Given the description of an element on the screen output the (x, y) to click on. 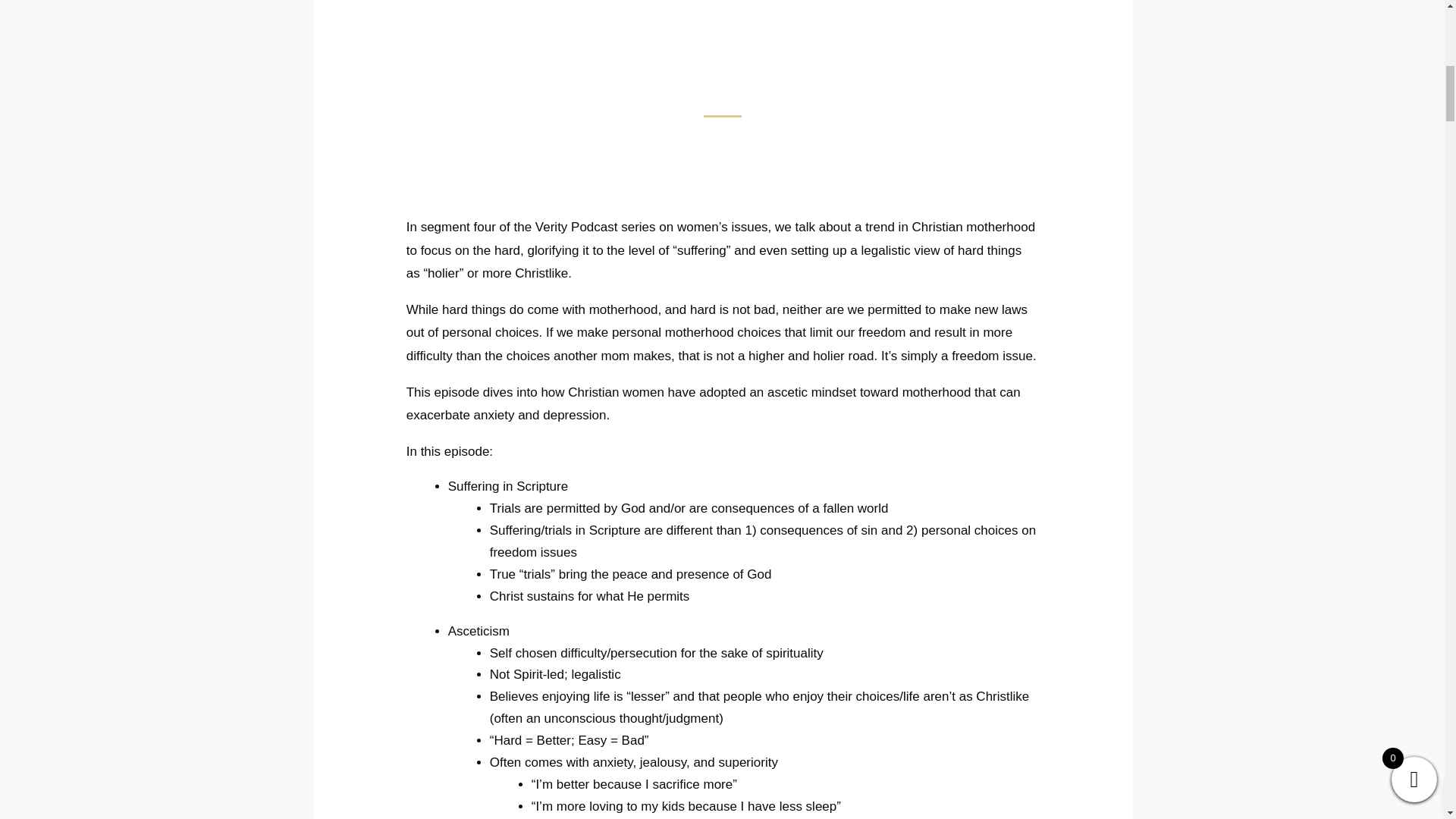
bethany-beck-82NHIKIvKNc-unsplash (722, 47)
